Given the description of an element on the screen output the (x, y) to click on. 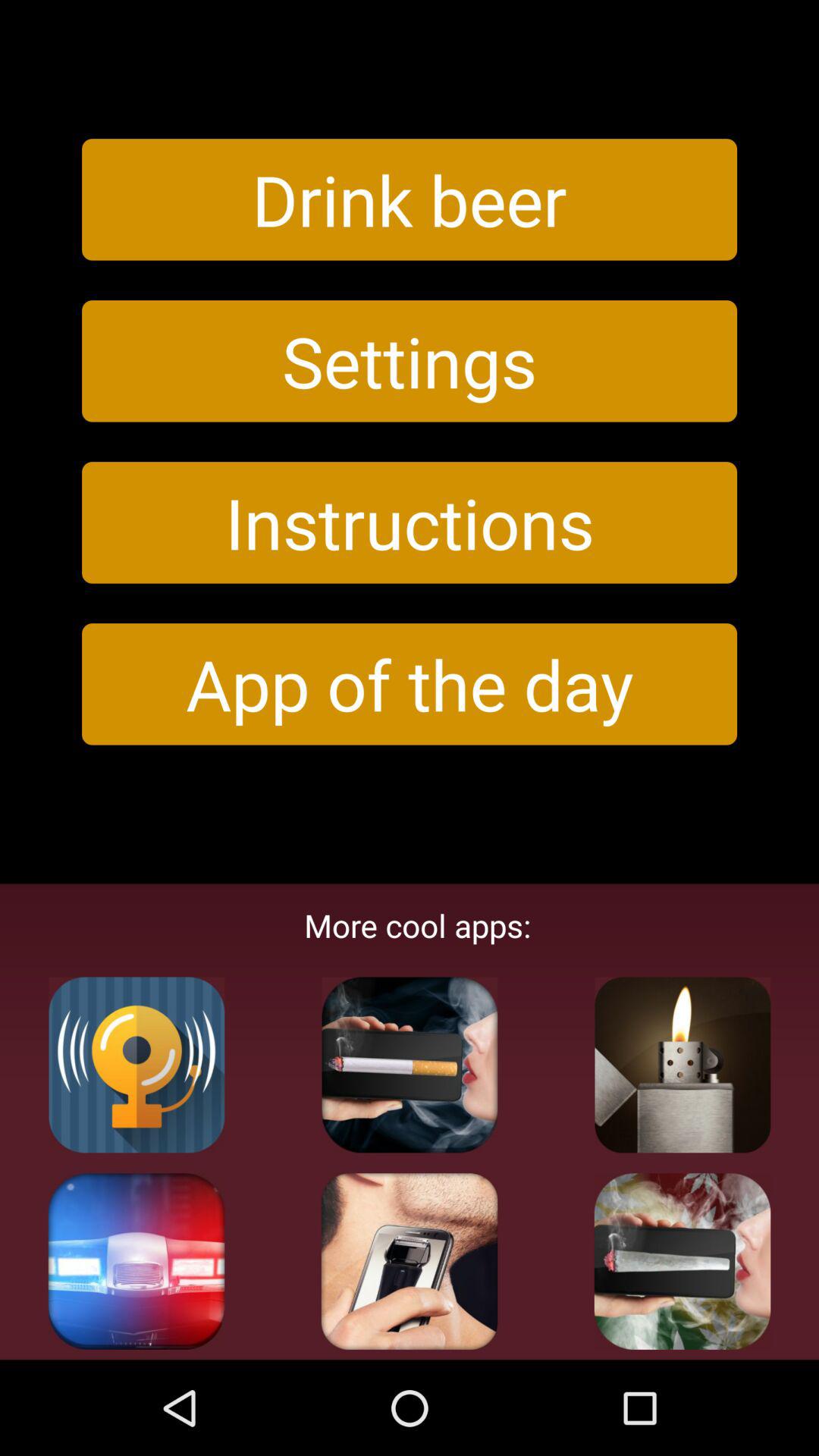
launch button above instructions icon (409, 361)
